Given the description of an element on the screen output the (x, y) to click on. 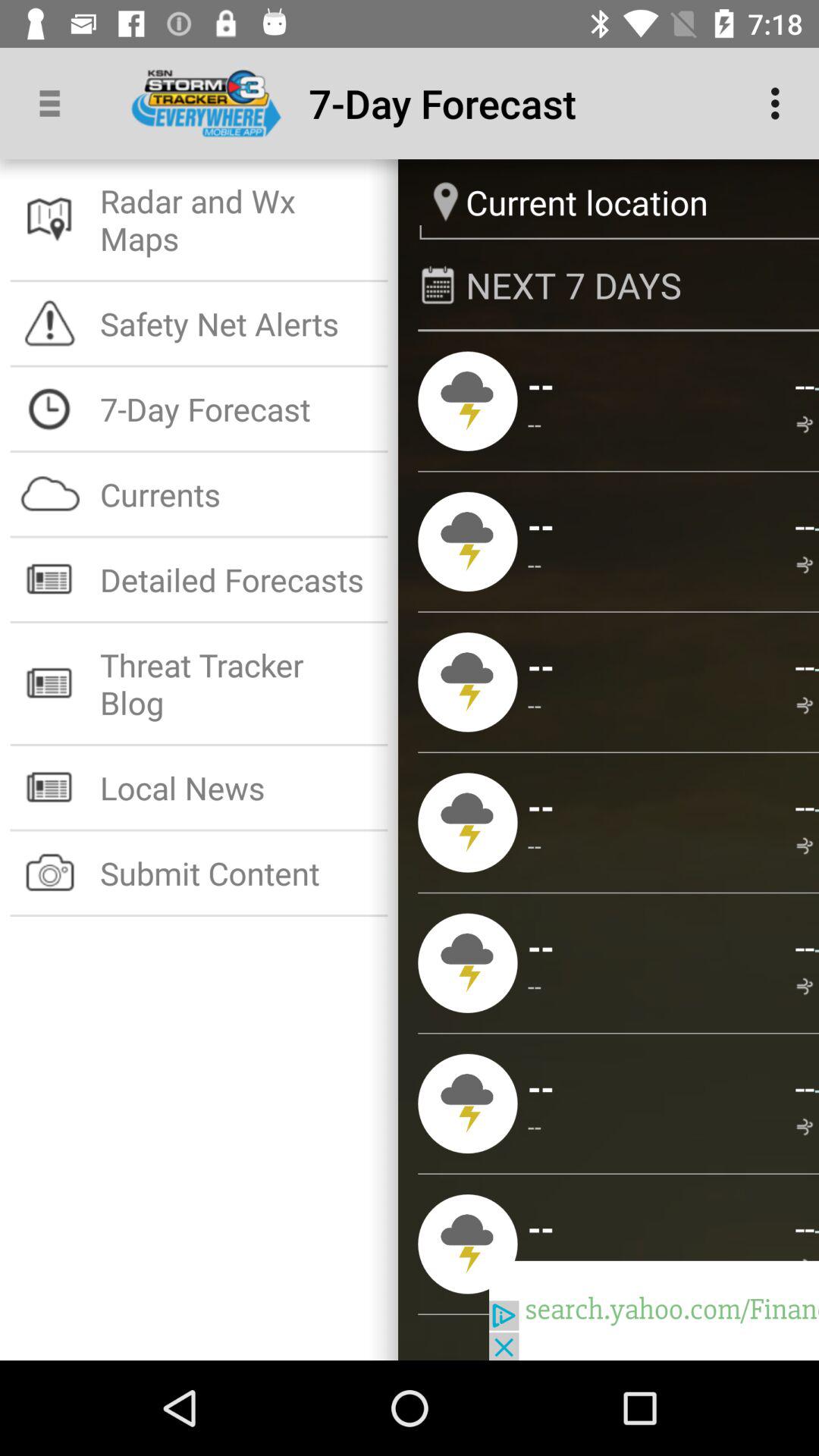
tap app above the -- item (807, 565)
